Given the description of an element on the screen output the (x, y) to click on. 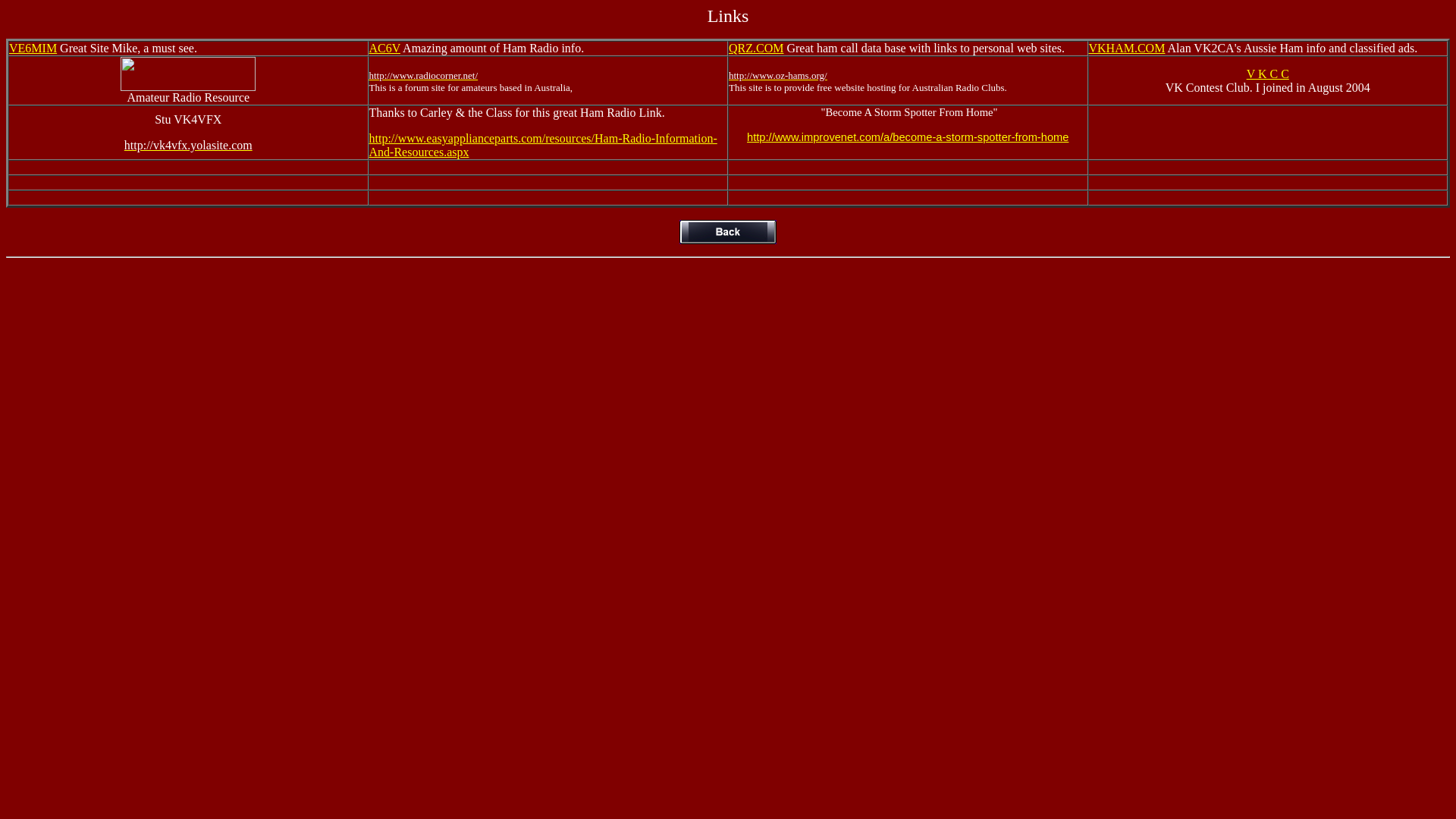
http://vk4vfx.yolasite.com Element type: text (188, 144)
http://www.oz-hams.org/ Element type: text (777, 74)
VKHAM.COM Element type: text (1126, 47)
http://www.improvenet.com/a/become-a-storm-spotter-from-home Element type: text (907, 137)
http://www.radiocorner.net/ Element type: text (422, 74)
AC6V Element type: text (384, 47)
V K C C Element type: text (1267, 72)
QRZ.COM Element type: text (755, 47)
VE6MIM Element type: text (32, 47)
